Given the description of an element on the screen output the (x, y) to click on. 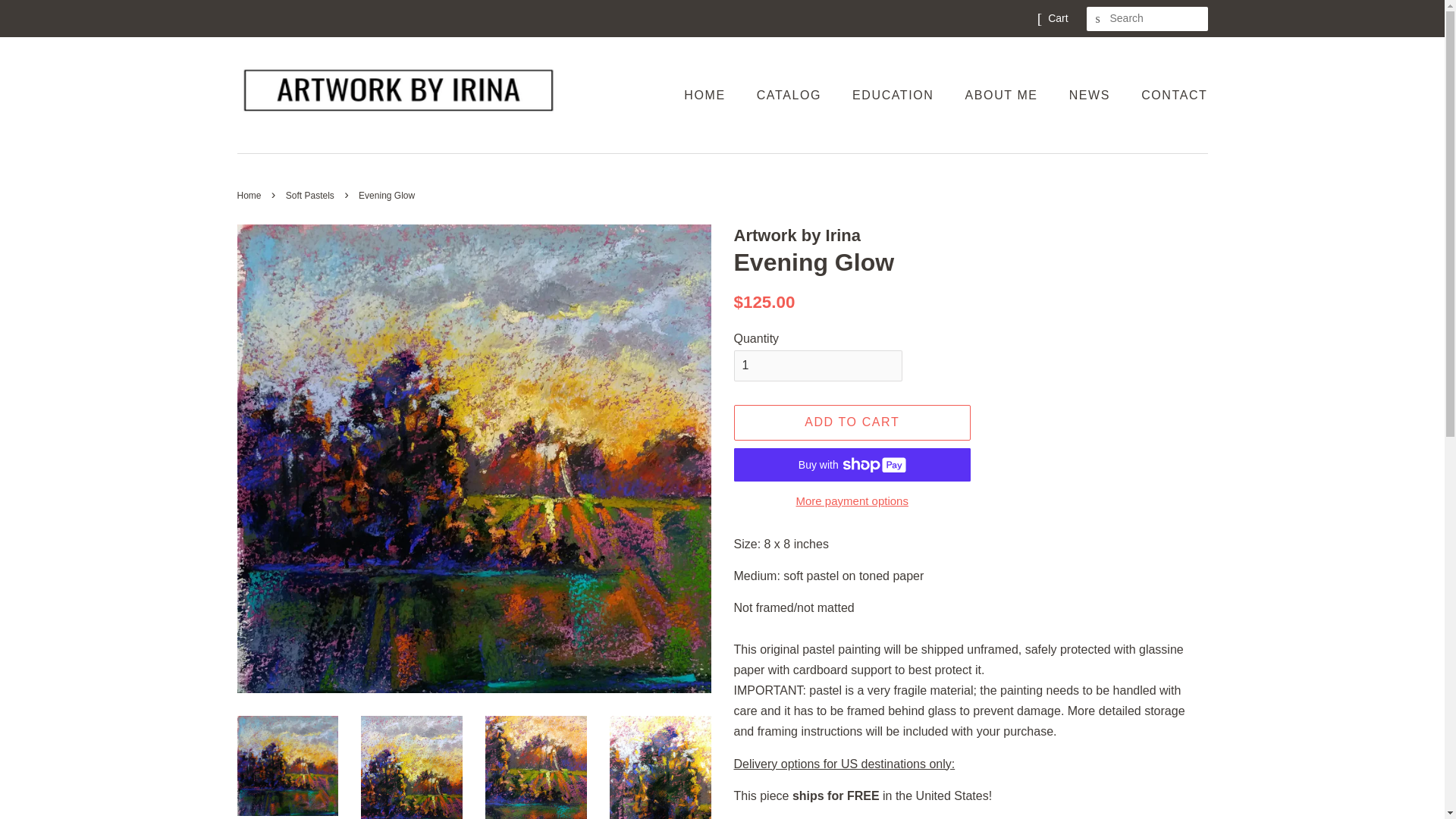
Cart (1057, 18)
NEWS (1091, 94)
ADD TO CART (852, 422)
SEARCH (1097, 18)
More payment options (852, 499)
Soft Pastels (311, 195)
CONTACT (1168, 94)
HOME (711, 94)
ABOUT ME (1002, 94)
EDUCATION (895, 94)
Back to the frontpage (249, 195)
1 (817, 365)
CATALOG (790, 94)
Home (249, 195)
